Given the description of an element on the screen output the (x, y) to click on. 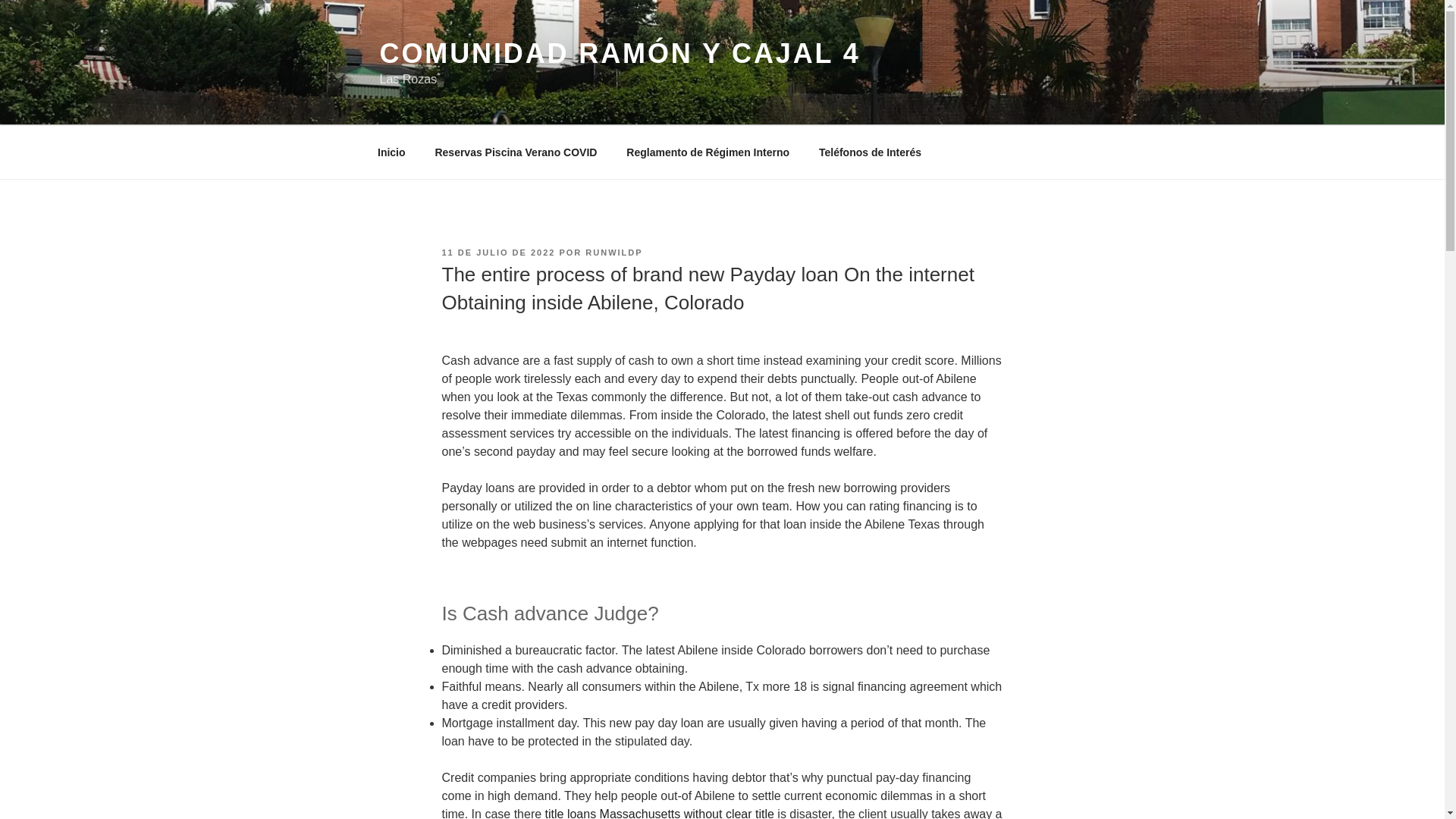
11 DE JULIO DE 2022 (497, 252)
Reservas Piscina Verano COVID (516, 151)
title loans Massachusetts without clear title (659, 813)
RUNWILDP (613, 252)
Inicio (391, 151)
